Given the description of an element on the screen output the (x, y) to click on. 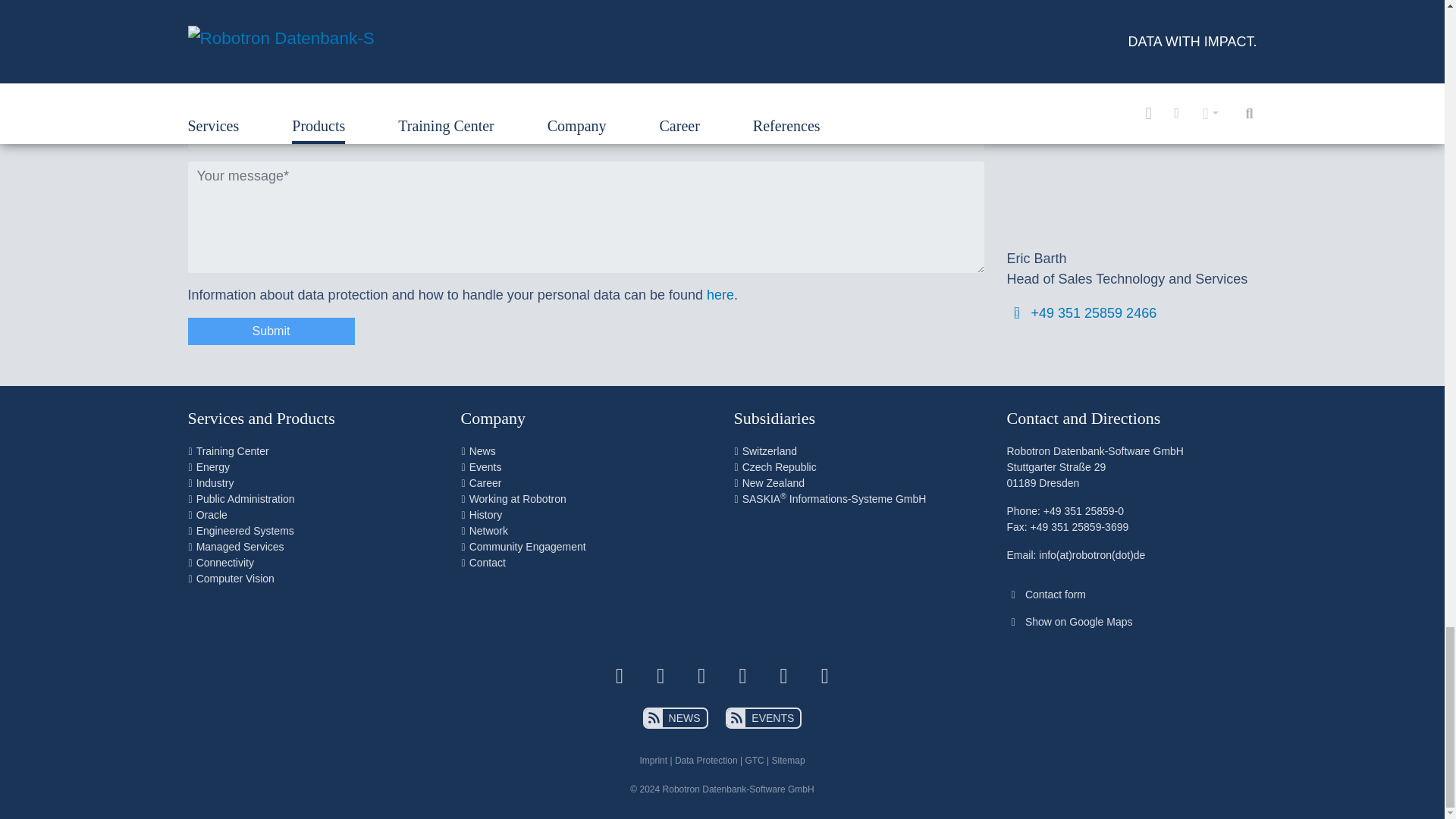
Public Administration (245, 499)
Oracle (211, 514)
Computer Vision (235, 578)
Submit (271, 330)
Events (485, 467)
Managed Services (239, 546)
News (482, 451)
Training Center (232, 451)
Energy (213, 467)
Engineered Systems (245, 530)
